Given the description of an element on the screen output the (x, y) to click on. 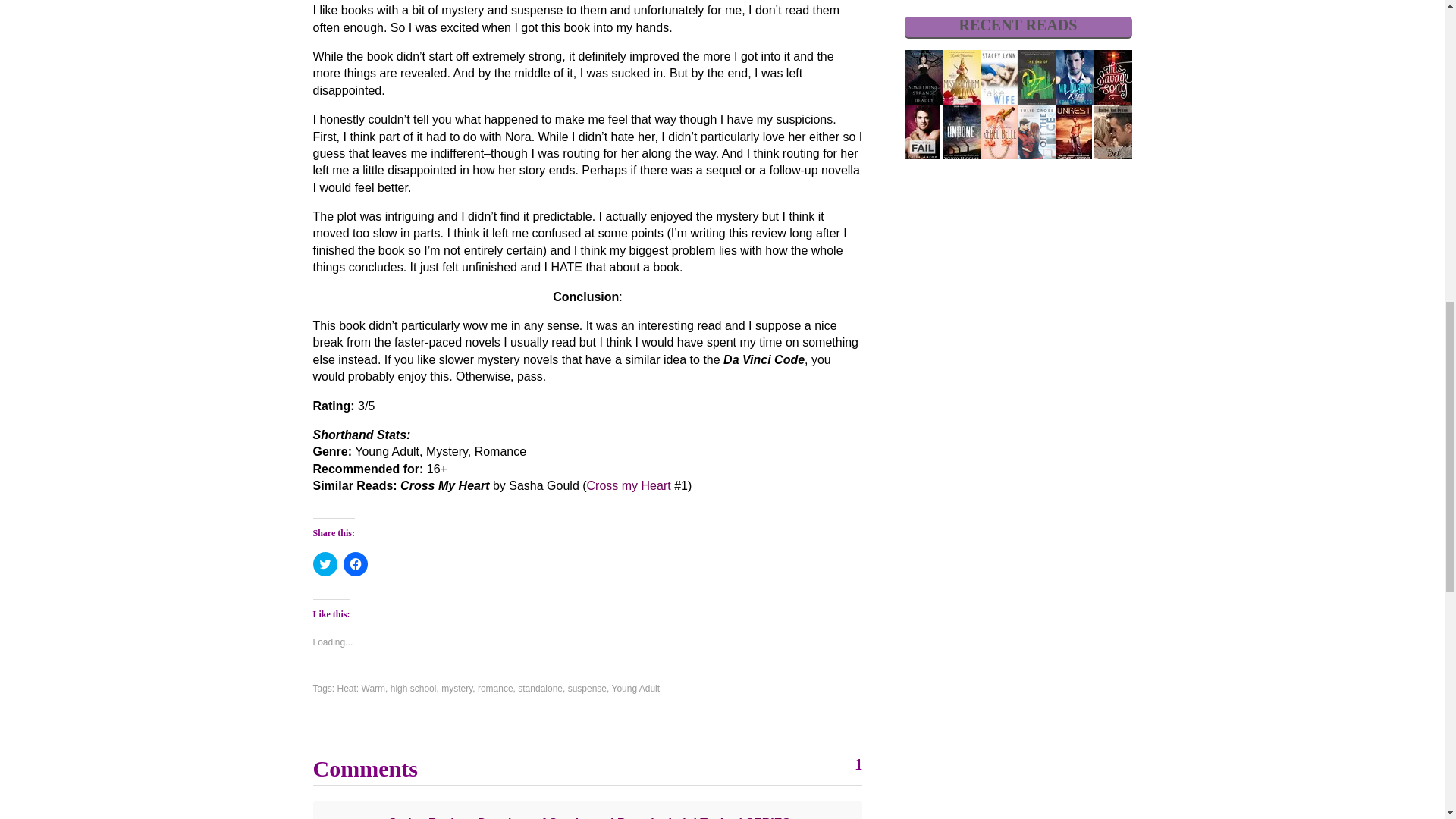
Click to share on Twitter (324, 564)
mystery (456, 688)
suspense (587, 688)
Cross my Heart (628, 485)
high school (413, 688)
Young Adult (635, 688)
romance (495, 688)
Heat: Warm (361, 688)
standalone (540, 688)
